Given the description of an element on the screen output the (x, y) to click on. 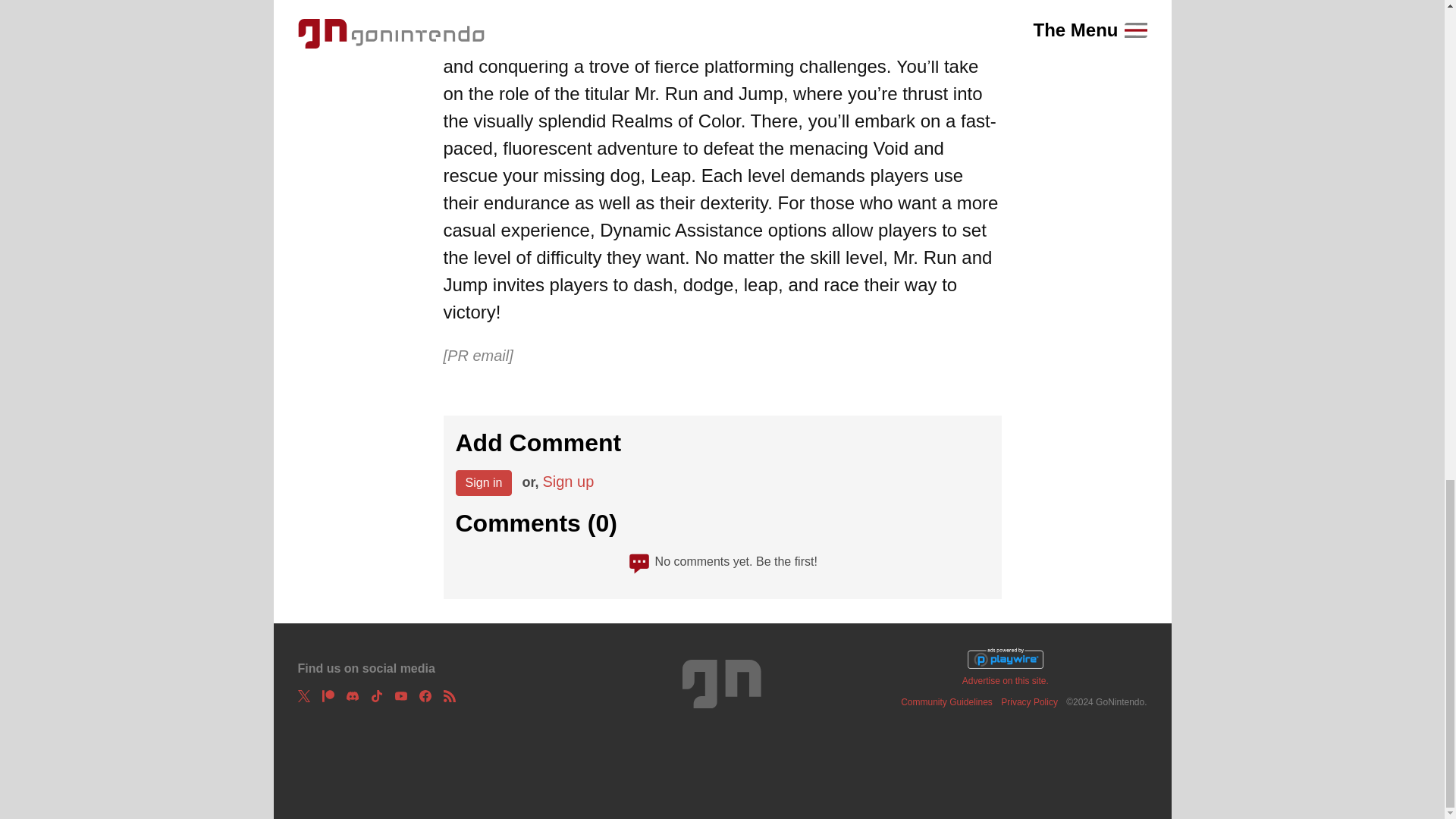
Support GN on Patreon (327, 695)
Follow us on X (302, 695)
Discord Invite (352, 695)
Follow us on TikTok (375, 695)
